Given the description of an element on the screen output the (x, y) to click on. 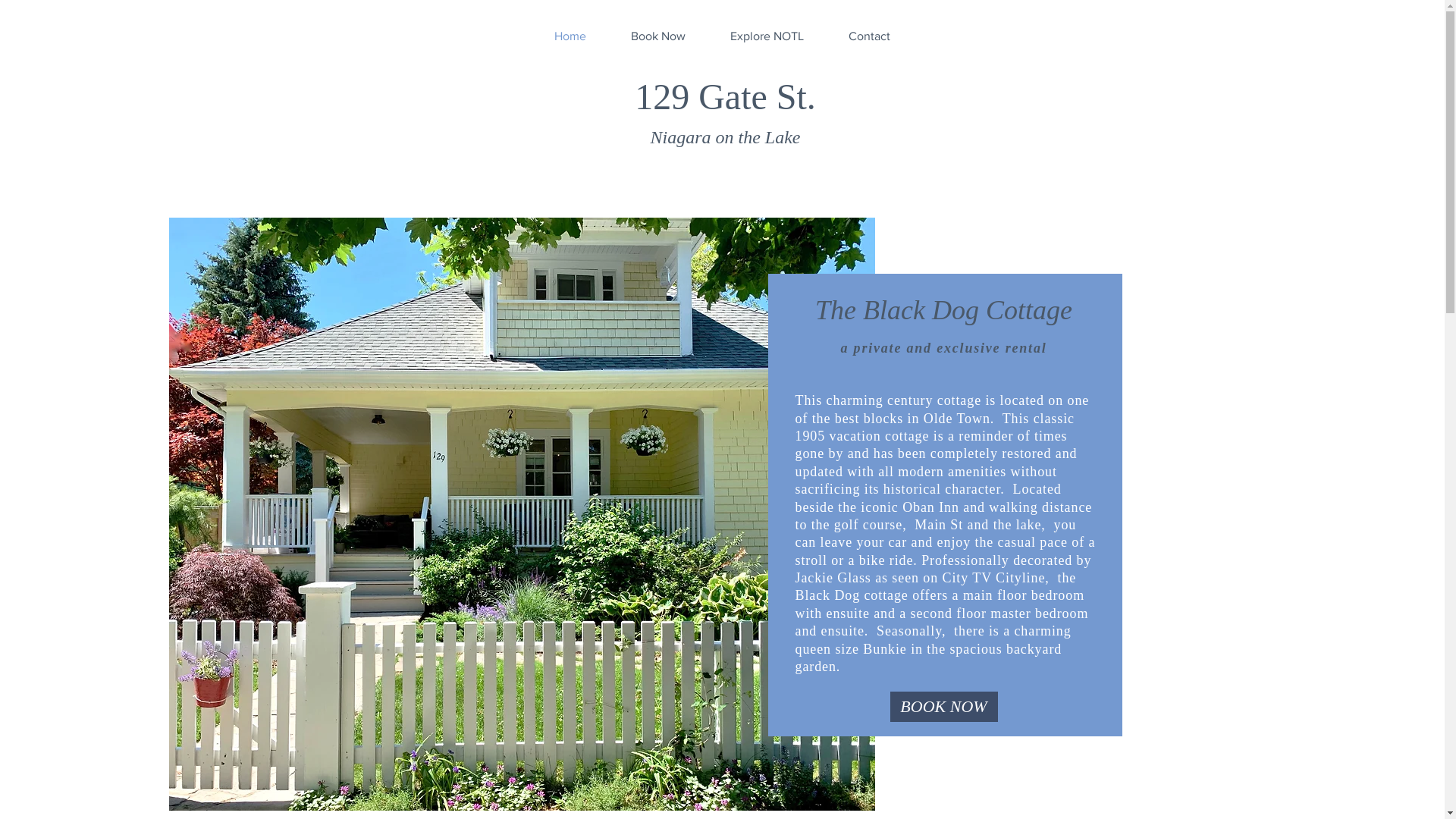
BOOK NOW Element type: text (943, 706)
129 Gate St. Element type: text (724, 96)
Book Now Element type: text (657, 36)
Explore NOTL Element type: text (767, 36)
Home Element type: text (570, 36)
Contact Element type: text (869, 36)
